Given the description of an element on the screen output the (x, y) to click on. 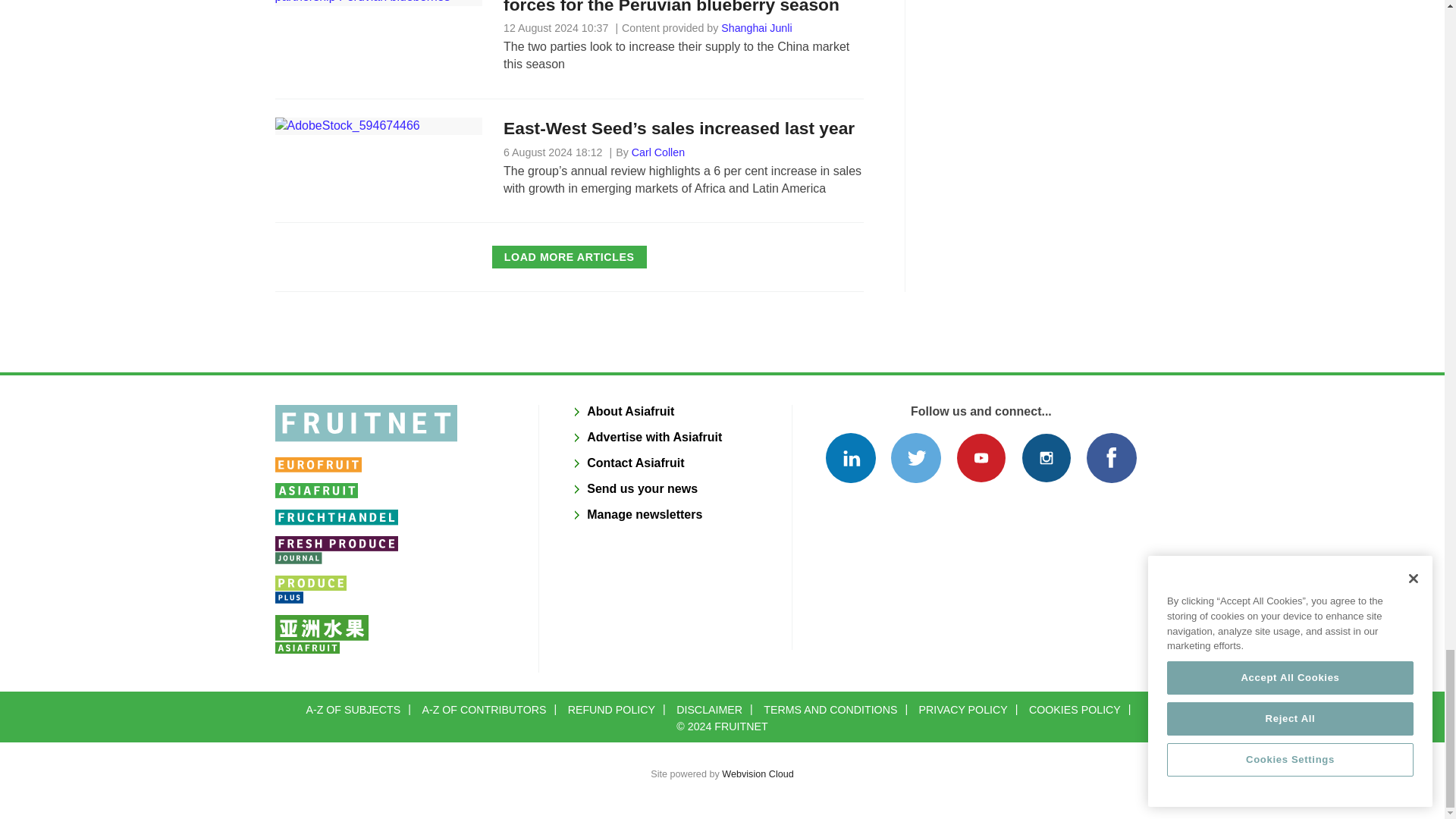
Follow us on Facebook (1110, 457)
Follow us on Linked In (850, 457)
Connect with us on Twitter (915, 457)
Follow us on Instagram (1046, 457)
Connect with us on Youtube (981, 457)
